Given the description of an element on the screen output the (x, y) to click on. 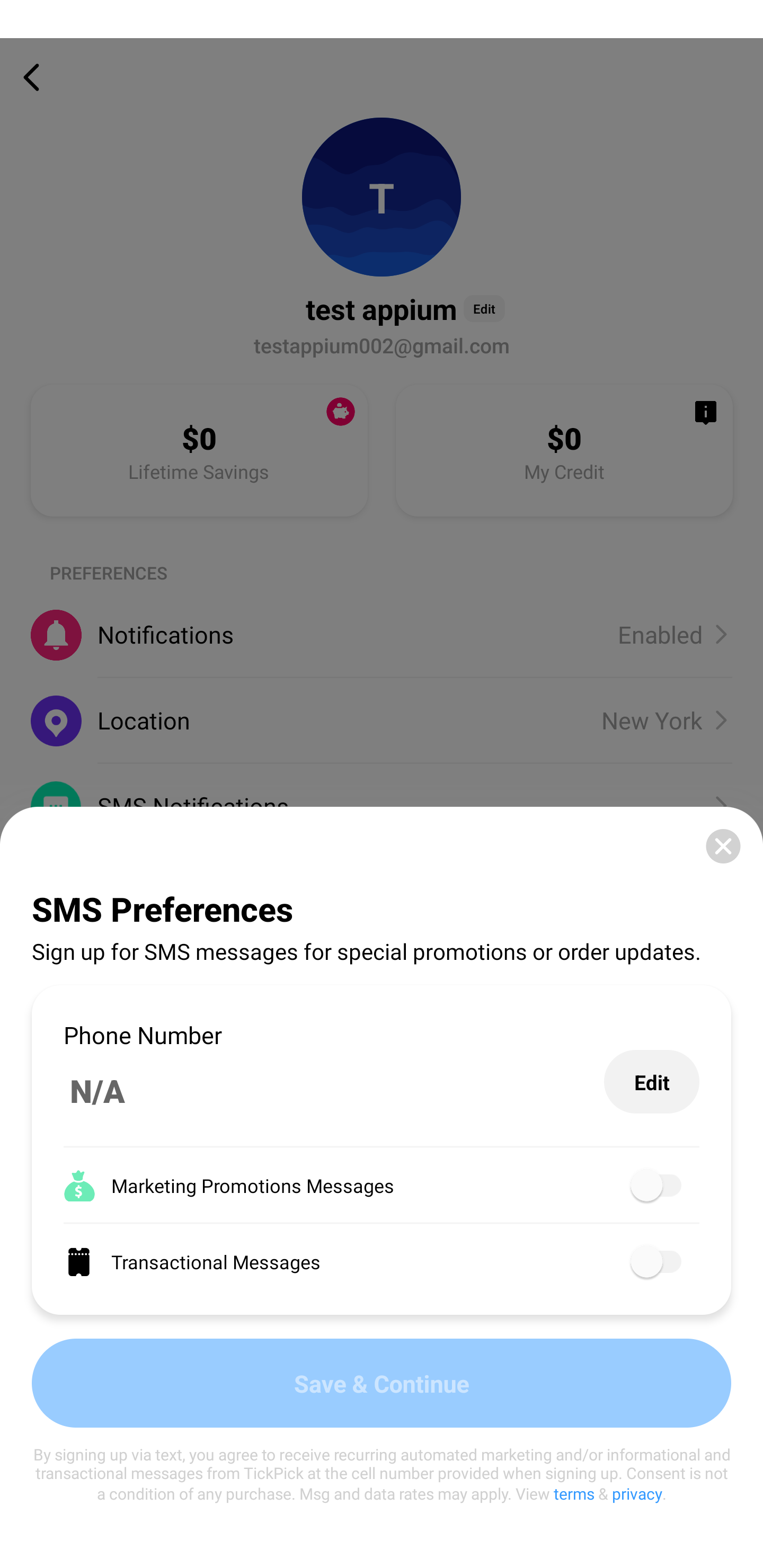
Edit (651, 1081)
N/A (333, 1091)
Save & Continue (381, 1382)
